Given the description of an element on the screen output the (x, y) to click on. 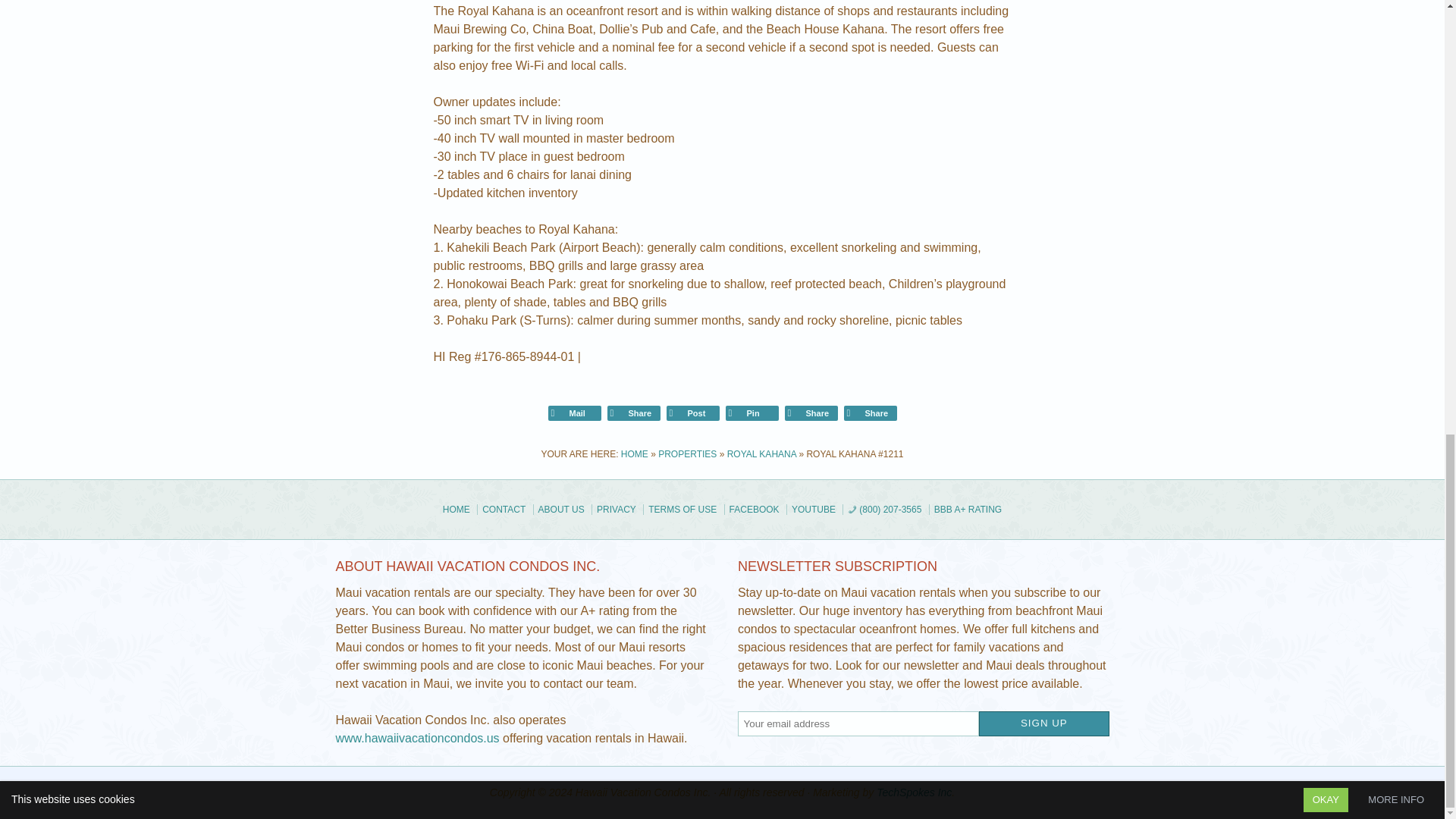
Sign up (1043, 723)
